Given the description of an element on the screen output the (x, y) to click on. 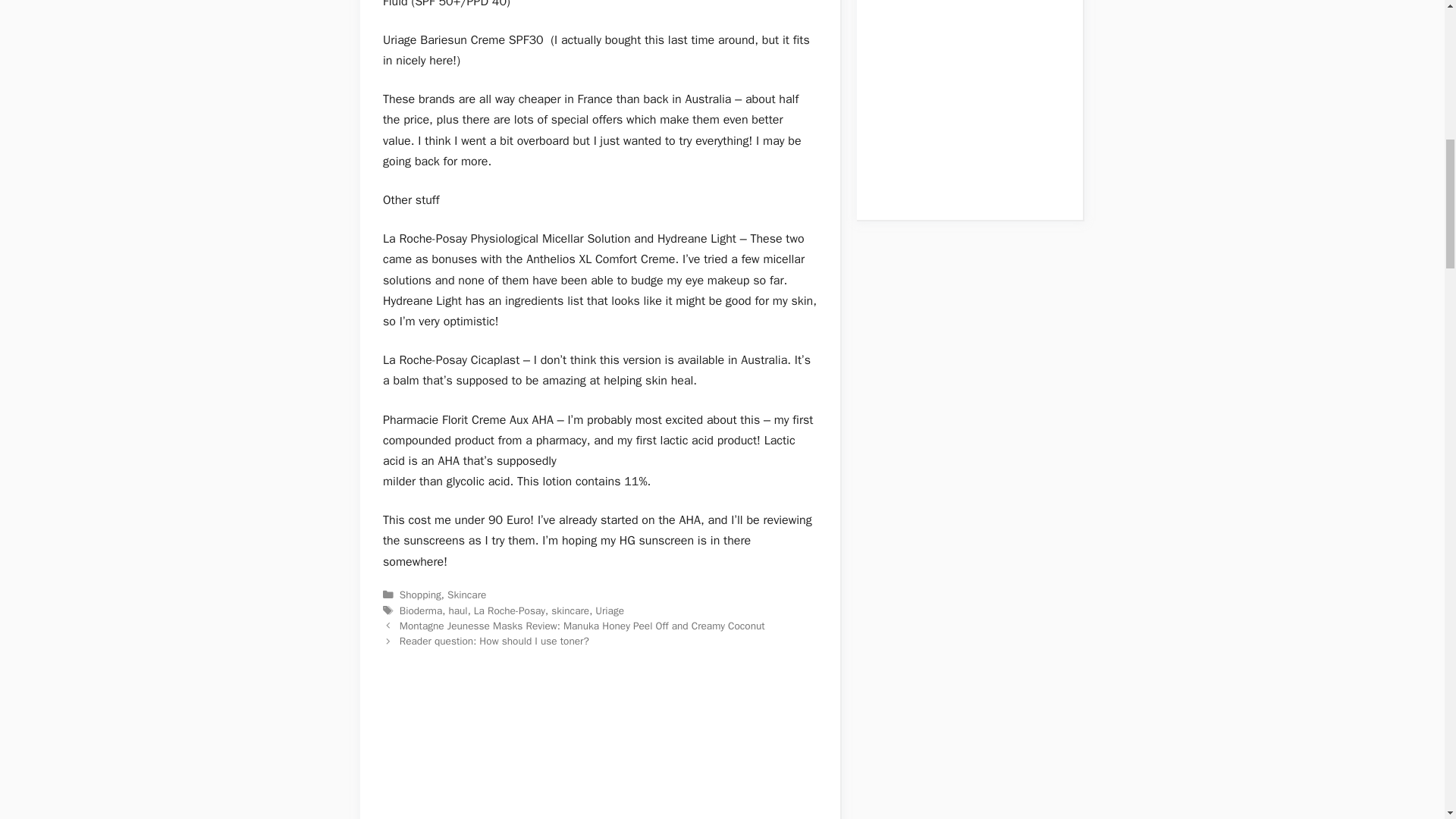
La Roche-Posay (509, 610)
skincare (570, 610)
Bioderma (420, 610)
Reader question: How should I use toner? (493, 640)
Shopping (419, 594)
Uriage (609, 610)
haul (457, 610)
Skincare (466, 594)
